Given the description of an element on the screen output the (x, y) to click on. 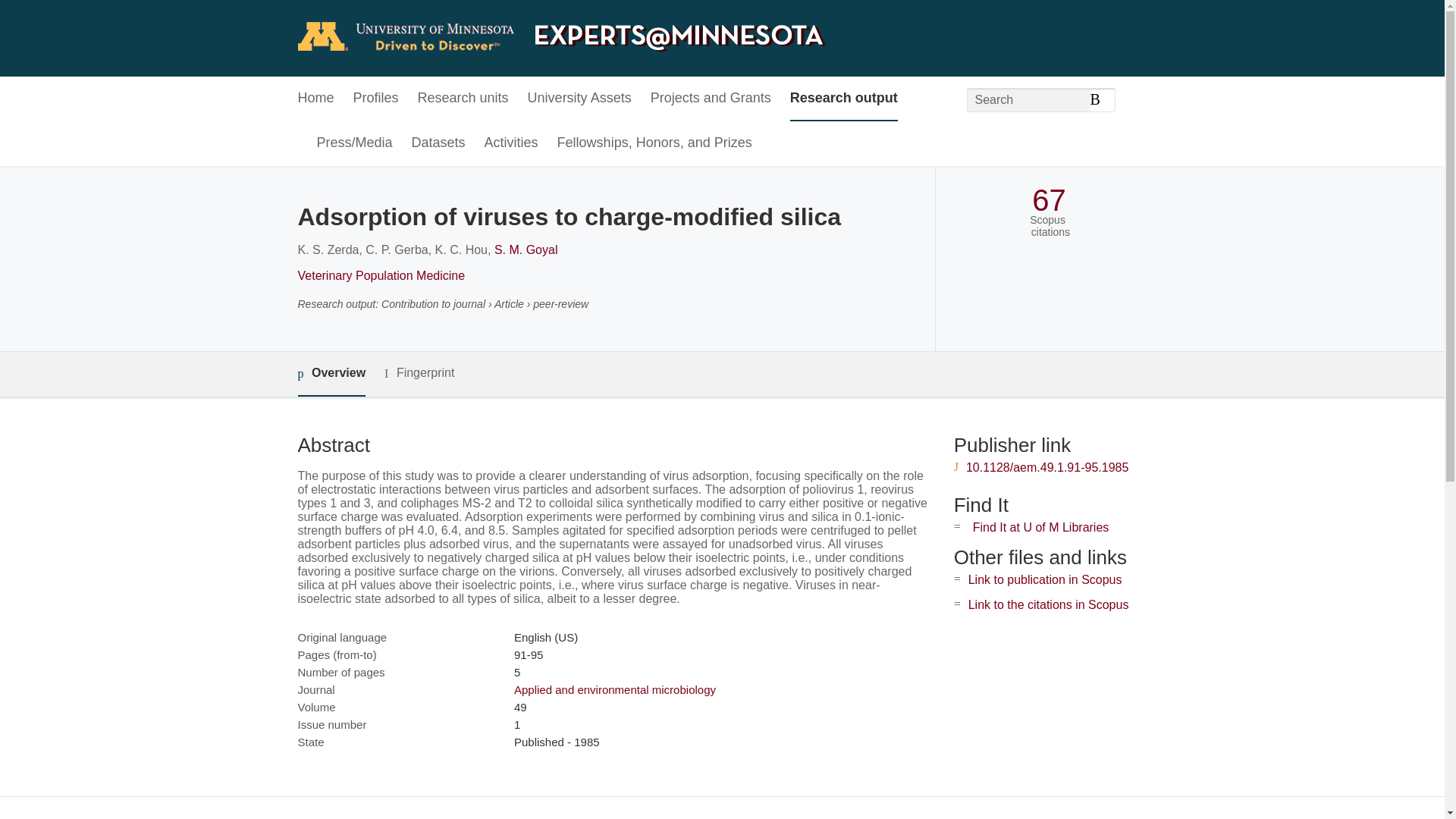
Find It at U of M Libraries (1040, 526)
67 (1048, 200)
S. M. Goyal (526, 249)
Projects and Grants (710, 98)
Activities (511, 143)
Fingerprint (419, 373)
Applied and environmental microbiology (614, 689)
Veterinary Population Medicine (380, 275)
Research units (462, 98)
